Given the description of an element on the screen output the (x, y) to click on. 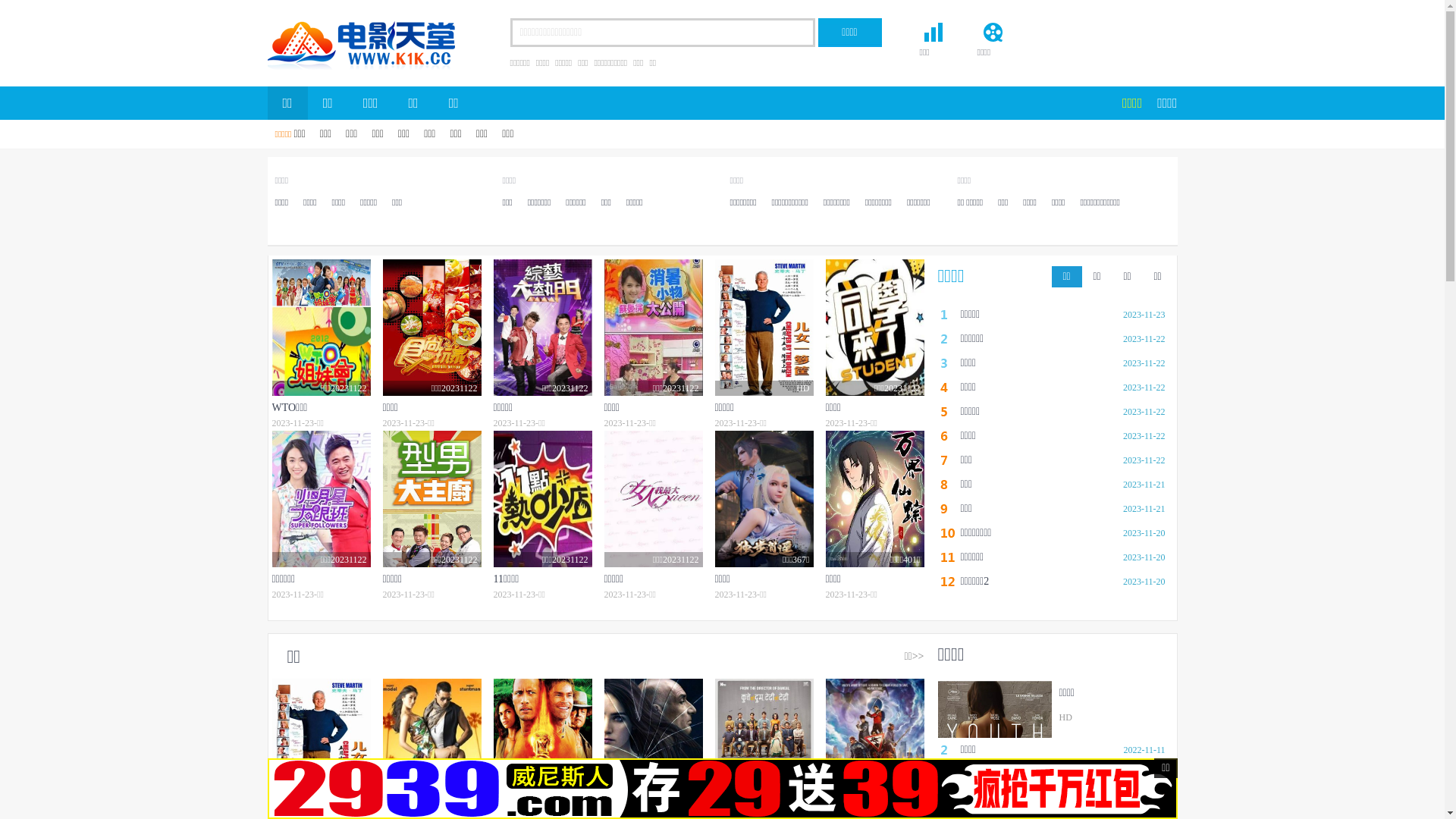
HD Element type: text (431, 746)
HD Element type: text (874, 746)
HD Element type: text (652, 746)
HD Element type: text (763, 746)
HD Element type: text (763, 327)
HD Element type: text (320, 746)
HD Element type: text (541, 746)
